Given the description of an element on the screen output the (x, y) to click on. 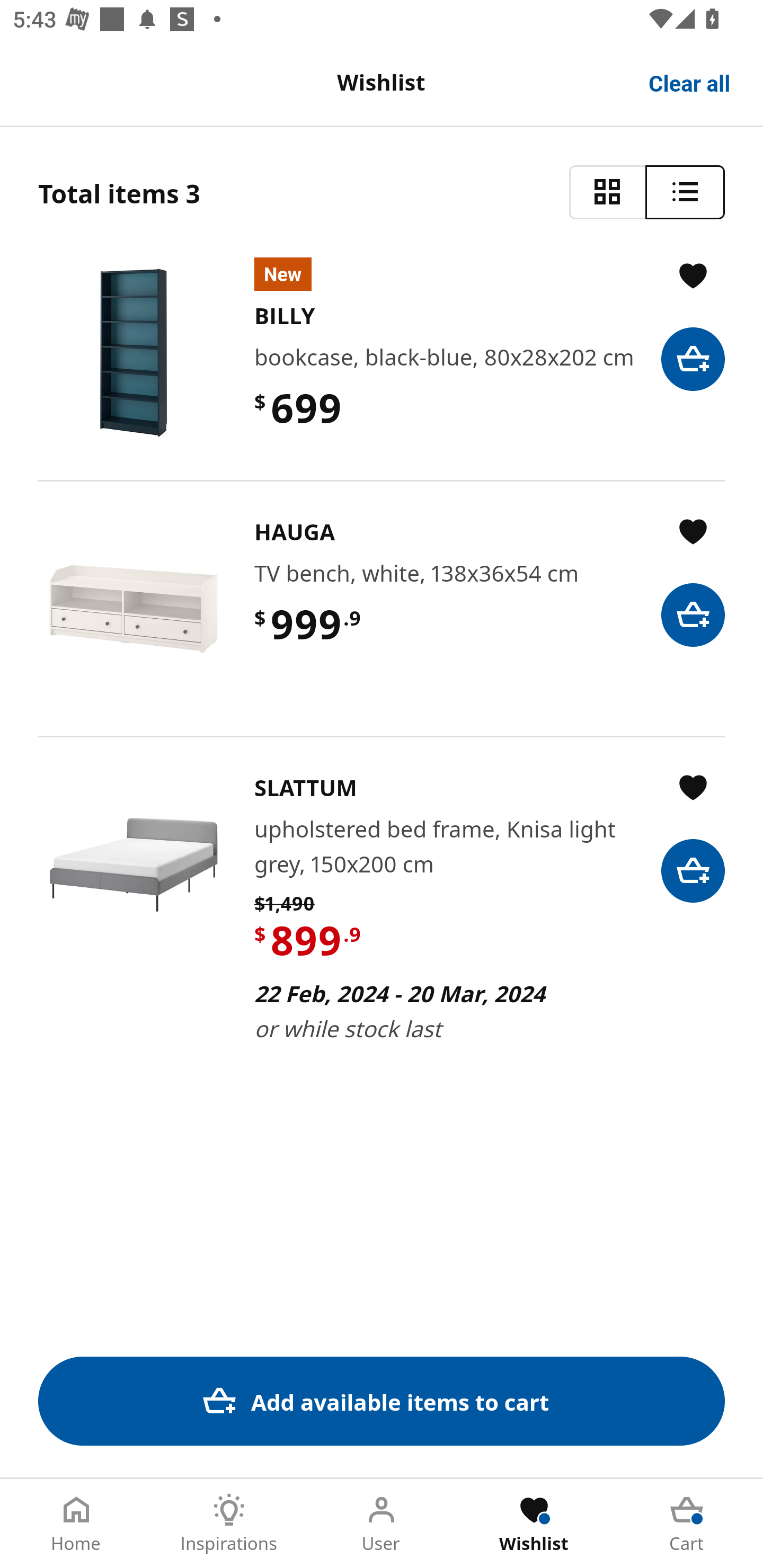
Clear all (689, 81)
​H​A​U​G​A​
TV bench, white, 138x36x54 cm
$
999
.9 (381, 608)
Add available items to cart (381, 1400)
Home
Tab 1 of 5 (76, 1522)
Inspirations
Tab 2 of 5 (228, 1522)
User
Tab 3 of 5 (381, 1522)
Wishlist
Tab 4 of 5 (533, 1522)
Cart
Tab 5 of 5 (686, 1522)
